Given the description of an element on the screen output the (x, y) to click on. 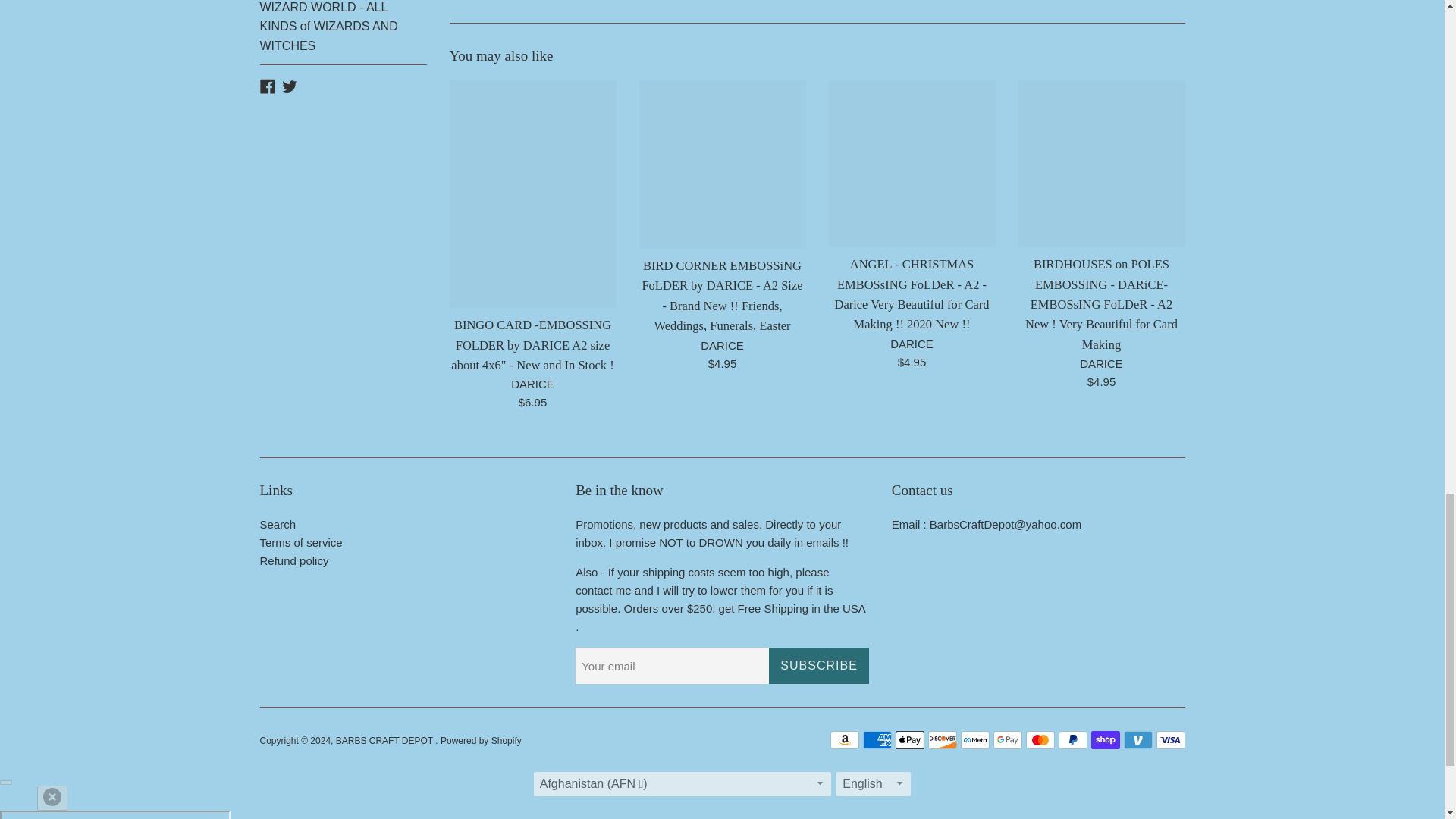
Discover (942, 740)
Shop Pay (1104, 740)
American Express (877, 740)
Venmo (1138, 740)
Mastercard (1039, 740)
Apple Pay (909, 740)
BARBS CRAFT DEPOT  on Twitter (289, 84)
Facebook (267, 84)
PayPal (1072, 740)
WIZARD WORLD - ALL KINDS of WIZARDS AND WITCHES (342, 32)
Visa (1170, 740)
